Given the description of an element on the screen output the (x, y) to click on. 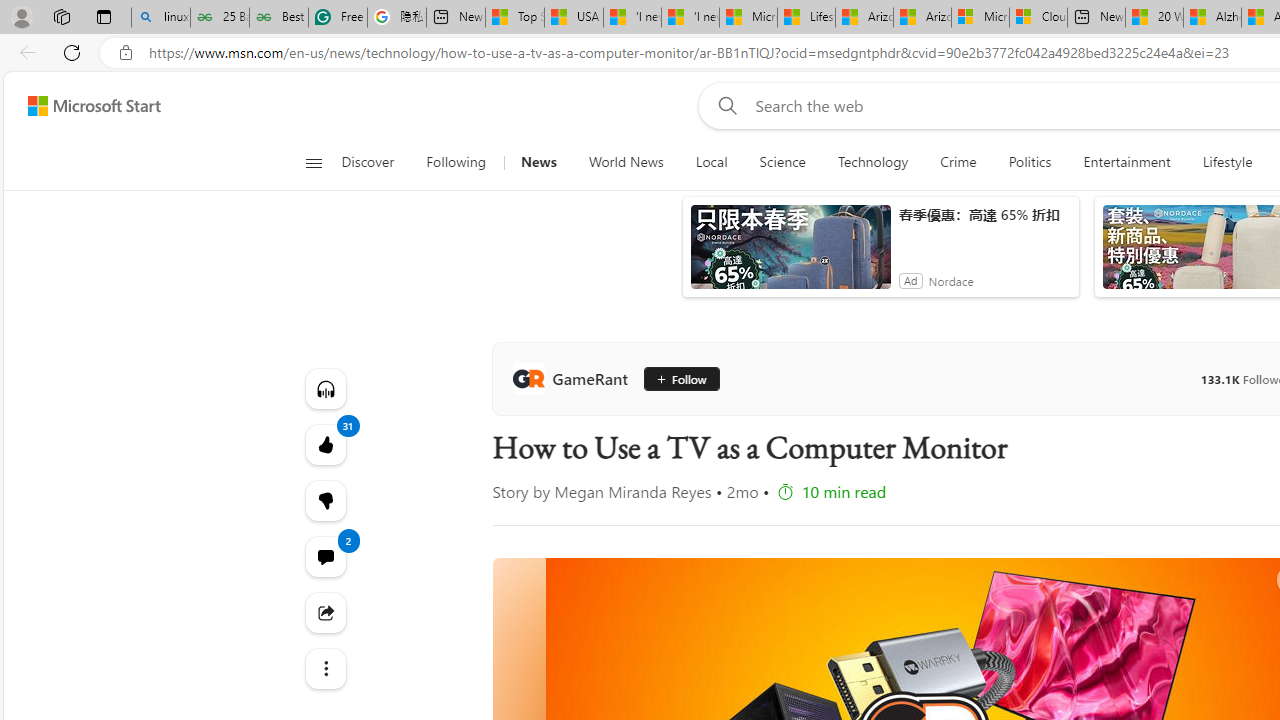
Best SSL Certificates Provider in India - GeeksforGeeks (278, 17)
News (537, 162)
anim-content (789, 255)
Nordace (951, 280)
View comments 2 Comment (324, 556)
Dislike (324, 500)
Ad (909, 280)
USA TODAY - MSN (573, 17)
Lifestyle - MSN (806, 17)
31 (324, 500)
